Given the description of an element on the screen output the (x, y) to click on. 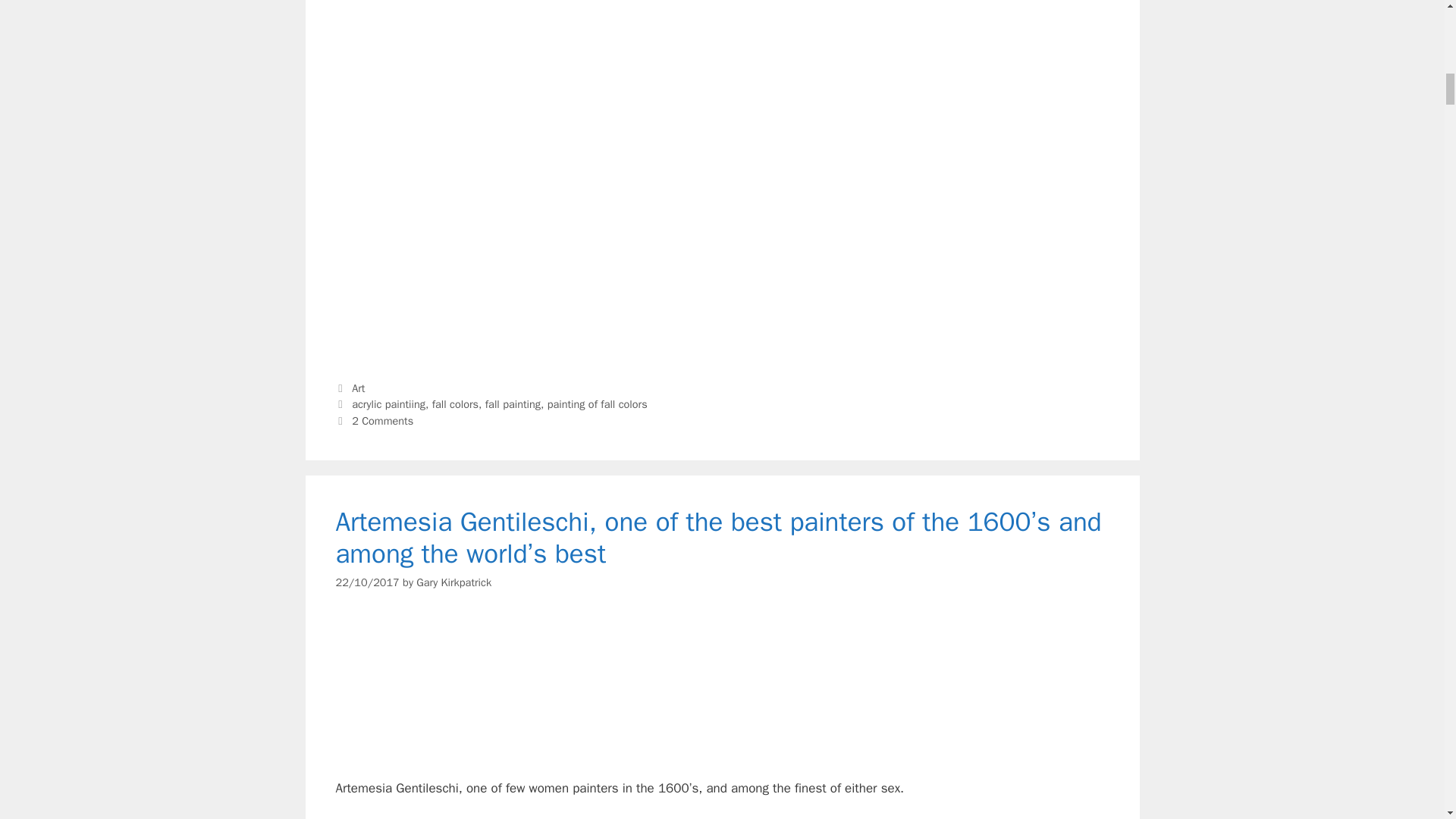
View all posts by Gary Kirkpatrick (454, 581)
